Given the description of an element on the screen output the (x, y) to click on. 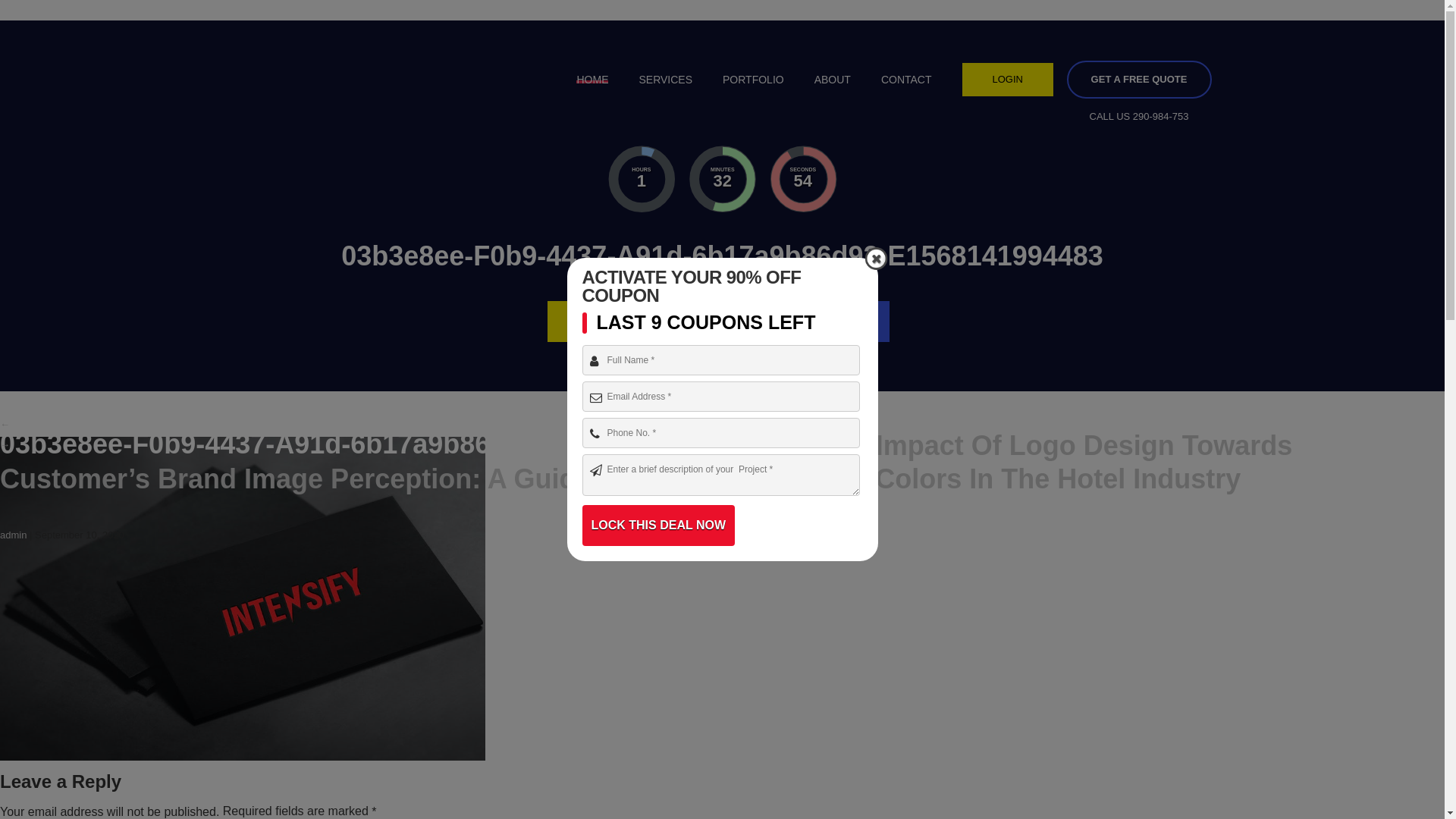
GET A FREE QUOTE Element type: text (1138, 79)
PORTFOLIO Element type: text (753, 79)
admin Element type: text (13, 534)
LOCK THIS DEAL NOW Element type: text (658, 525)
CALL US 290-984-753 Element type: text (1138, 114)
CALCULATE PRICING Element type: text (795, 321)
SERVICES Element type: text (665, 79)
ABOUT Element type: text (832, 79)
03b3e8ee-f0b9-4437-a91d-6b17a9b86d92-e1568141994483 Element type: hover (242, 597)
CONTACT Element type: text (906, 79)
HOME Element type: text (592, 79)
GET STARTED Element type: text (618, 321)
LOGIN Element type: text (1007, 79)
